Given the description of an element on the screen output the (x, y) to click on. 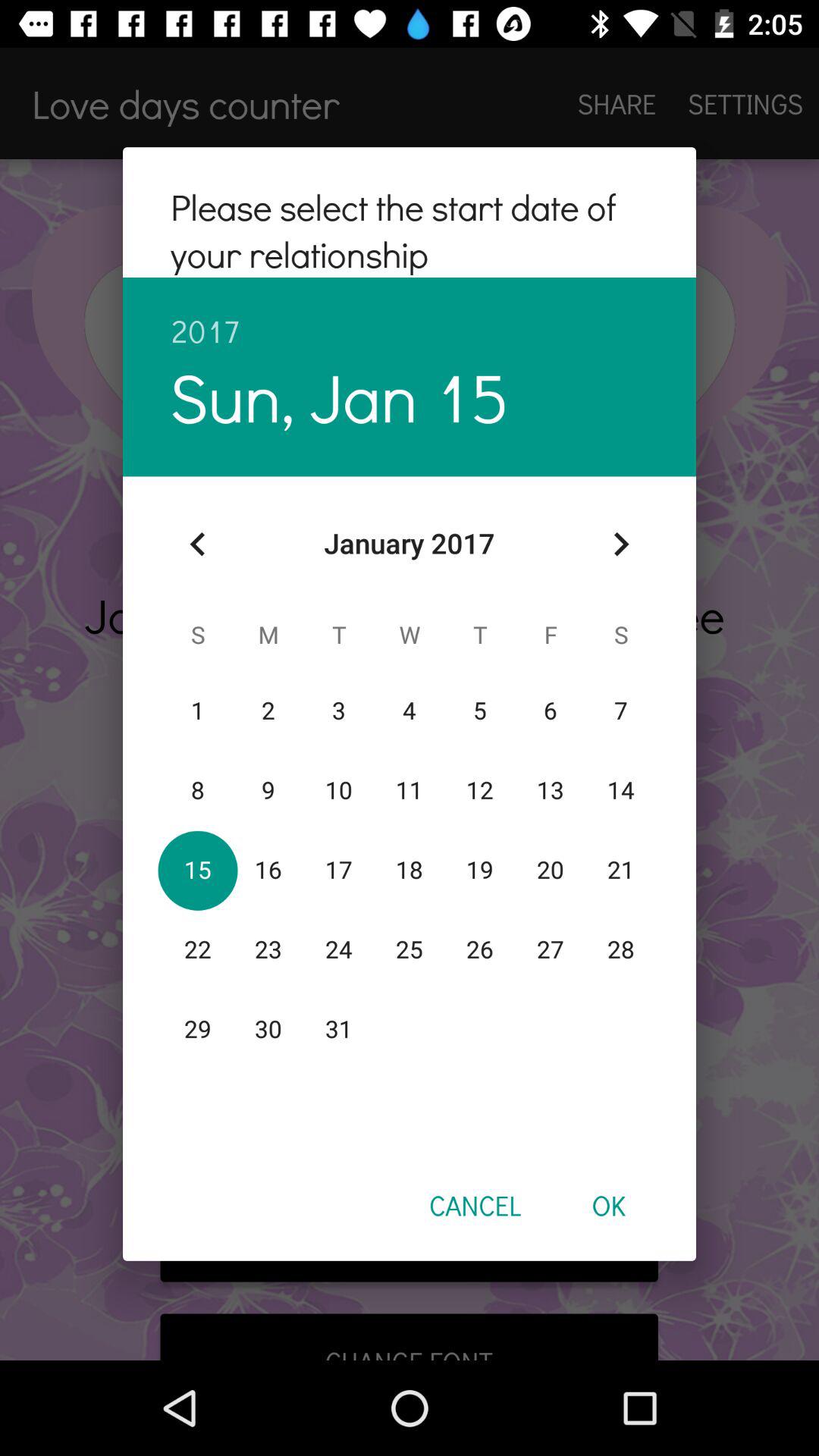
scroll to sun, jan 15 item (339, 395)
